Given the description of an element on the screen output the (x, y) to click on. 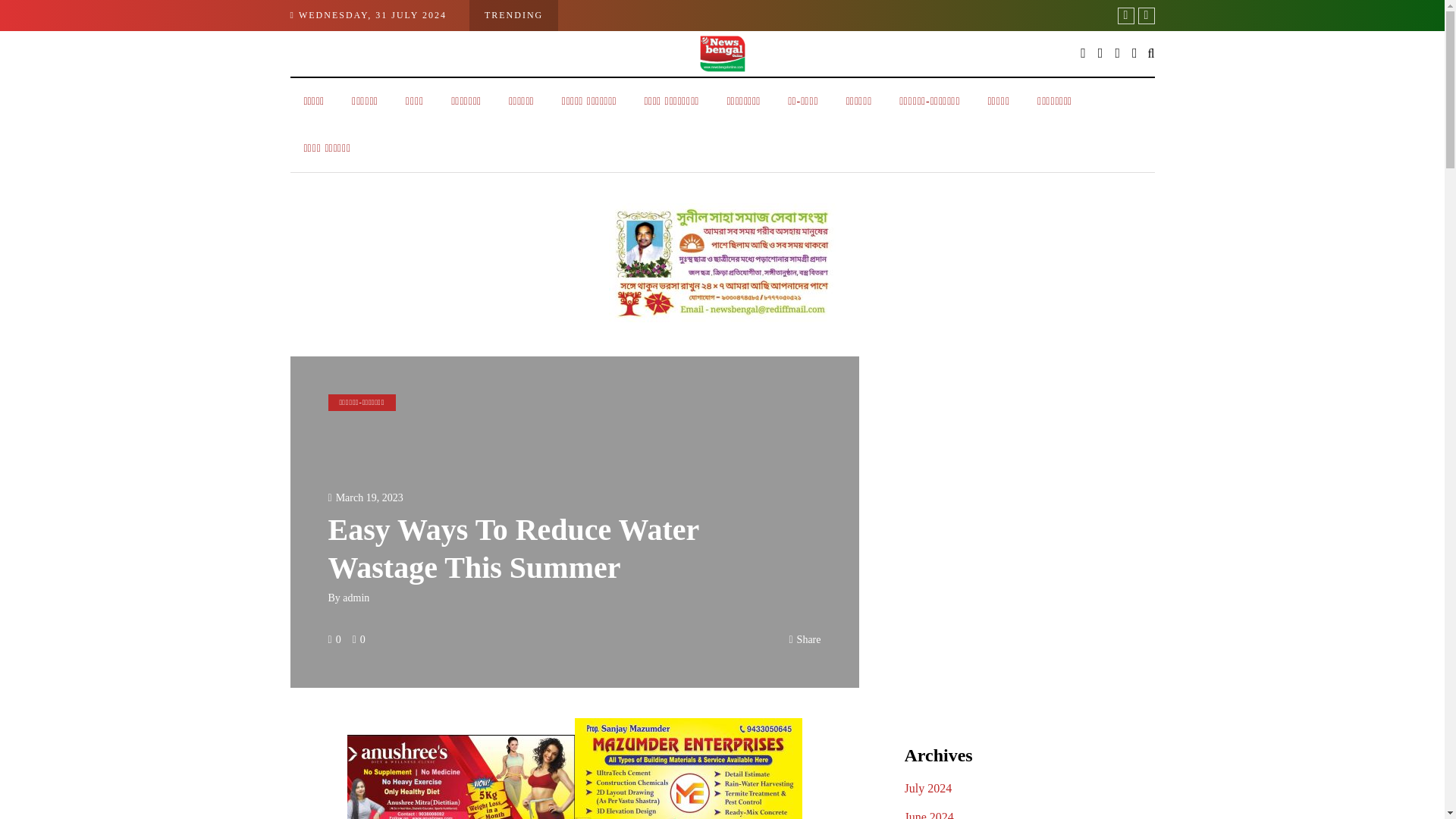
Posts by admin (355, 597)
